Given the description of an element on the screen output the (x, y) to click on. 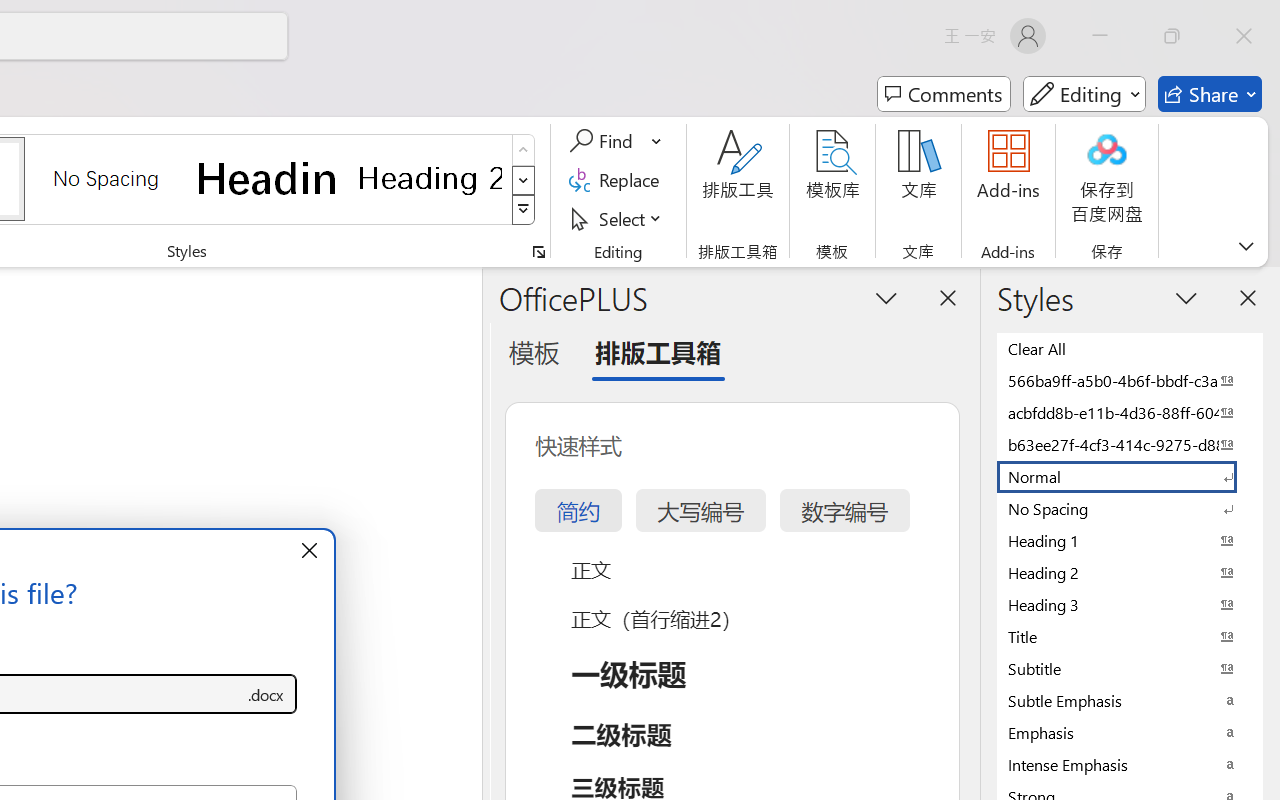
acbfdd8b-e11b-4d36-88ff-6049b138f862 (1130, 412)
Intense Emphasis (1130, 764)
Share (1210, 94)
Task Pane Options (886, 297)
566ba9ff-a5b0-4b6f-bbdf-c3ab41993fc2 (1130, 380)
Styles (523, 209)
Row up (523, 150)
No Spacing (1130, 508)
Heading 2 (429, 178)
